Given the description of an element on the screen output the (x, y) to click on. 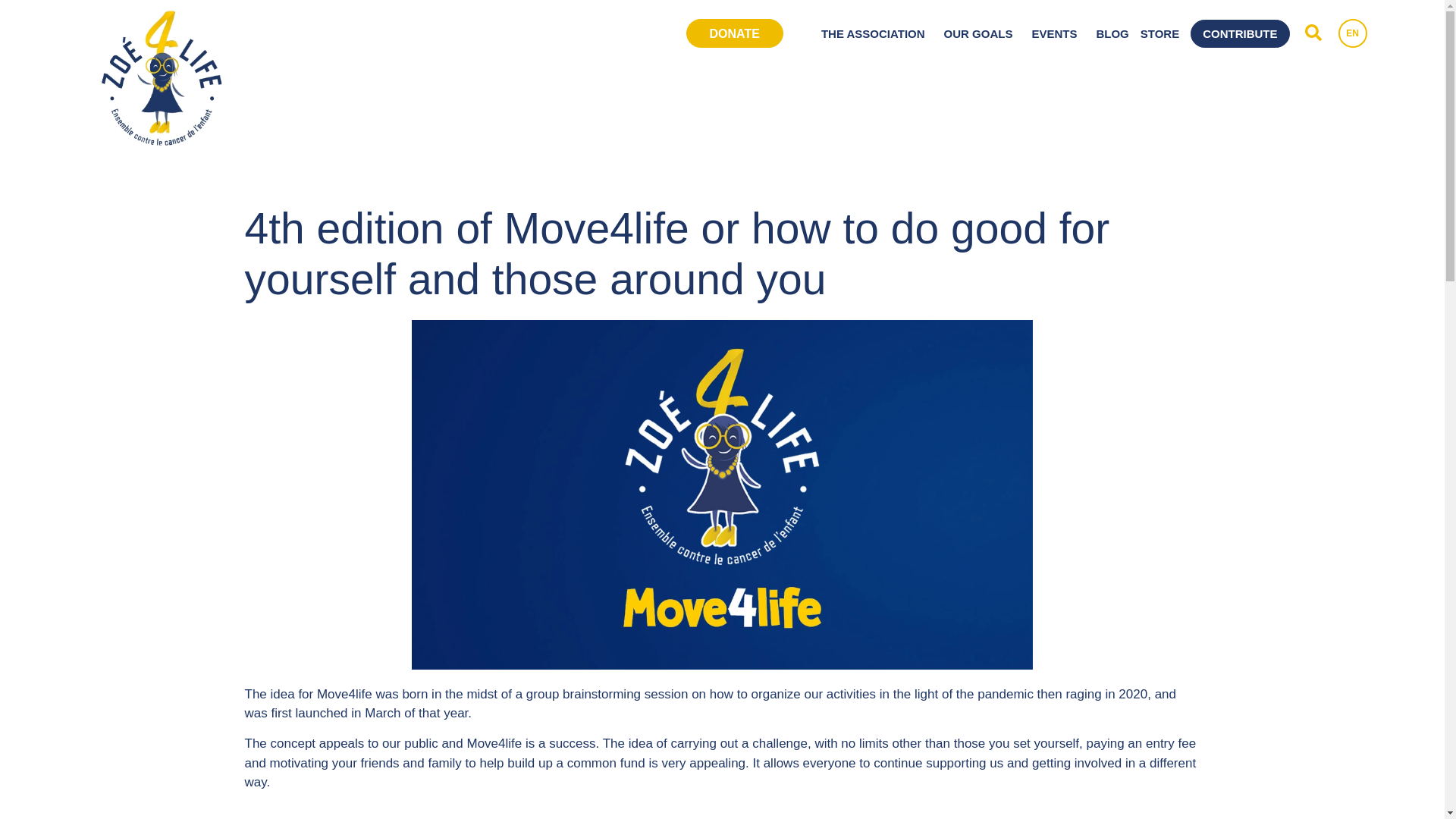
STORE (1159, 33)
OUR GOALS (981, 33)
CONTRIBUTE (1239, 33)
DONATE (731, 32)
BLOG (1112, 33)
THE ASSOCIATION (877, 33)
EVENTS (1057, 33)
